Given the description of an element on the screen output the (x, y) to click on. 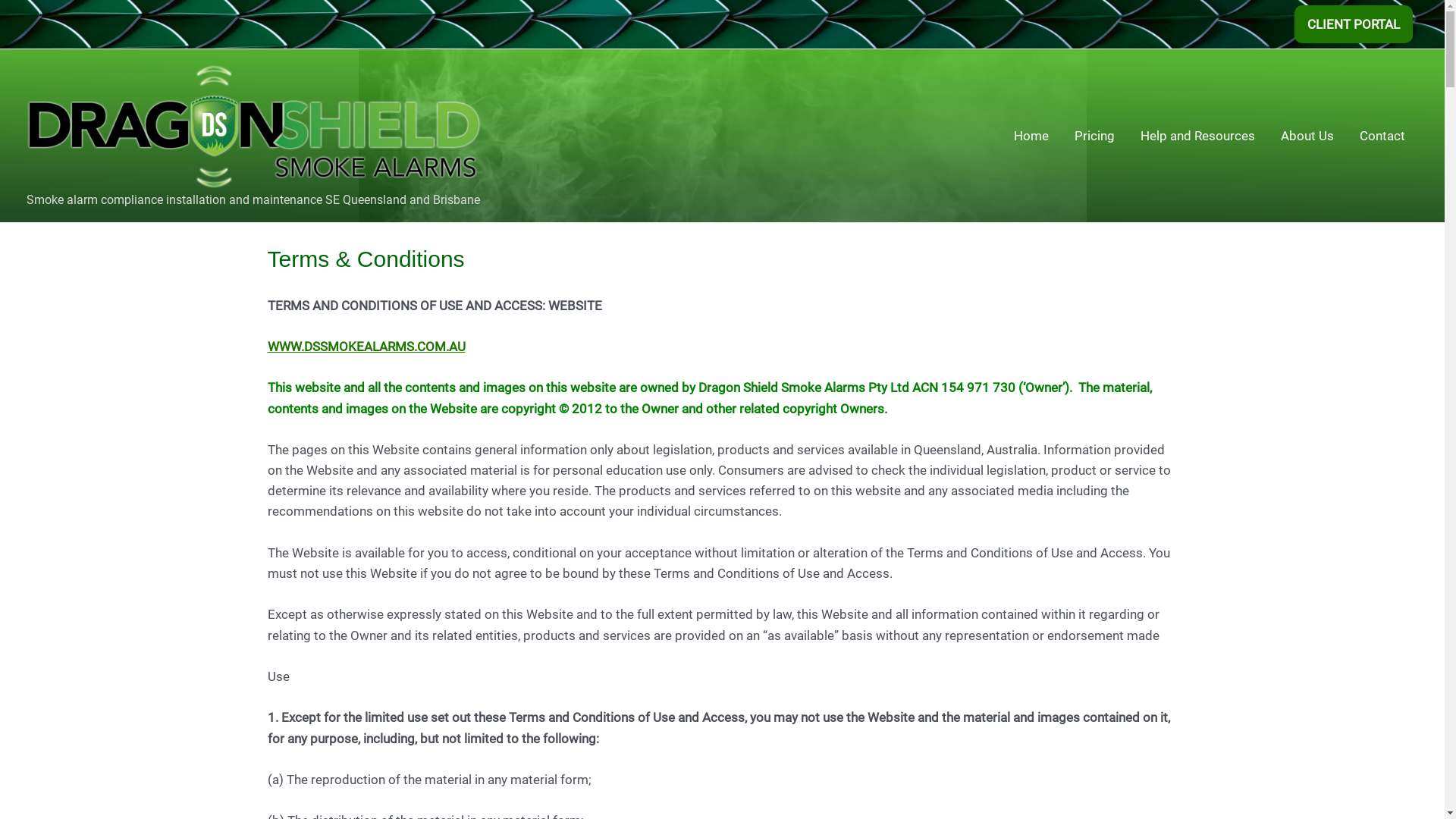
WWW.DSSMOKEALARMS.COM.AU Element type: text (365, 346)
Help and Resources Element type: text (1197, 135)
Home Element type: text (1031, 135)
About Us Element type: text (1306, 135)
Contact Element type: text (1382, 135)
Pricing Element type: text (1094, 135)
CLIENT PORTAL Element type: text (1353, 24)
